Given the description of an element on the screen output the (x, y) to click on. 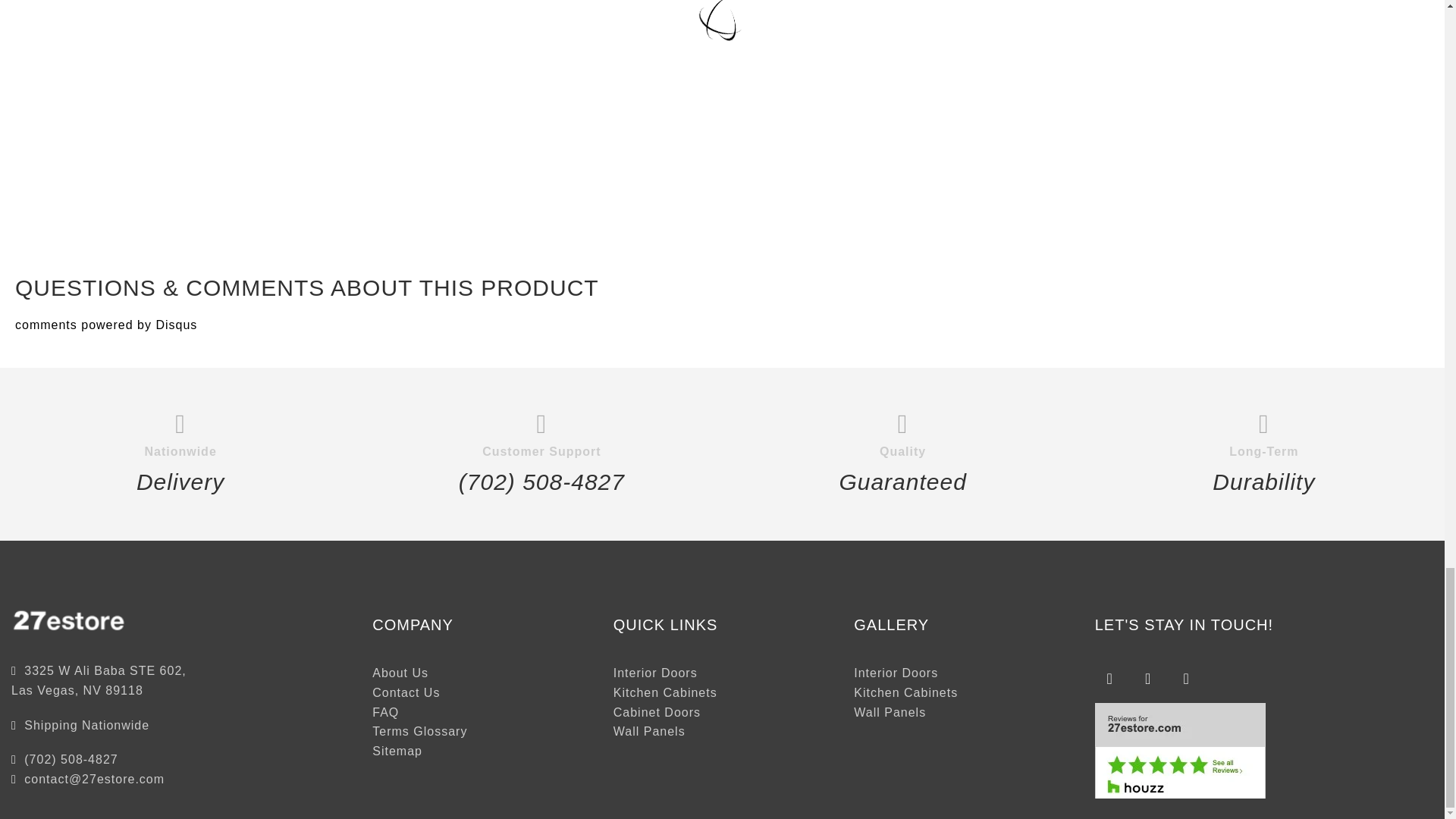
3269 (527, 225)
Light Hickory Textured (824, 141)
Hamilton Oak Textured (470, 141)
Red Pine Textured (1160, 141)
About Us (400, 672)
FAQ (385, 712)
110 (172, 225)
Contact Us (405, 692)
4124 (1233, 225)
Light Oak Wood Veneer Cabinet Doors (169, 141)
